Given the description of an element on the screen output the (x, y) to click on. 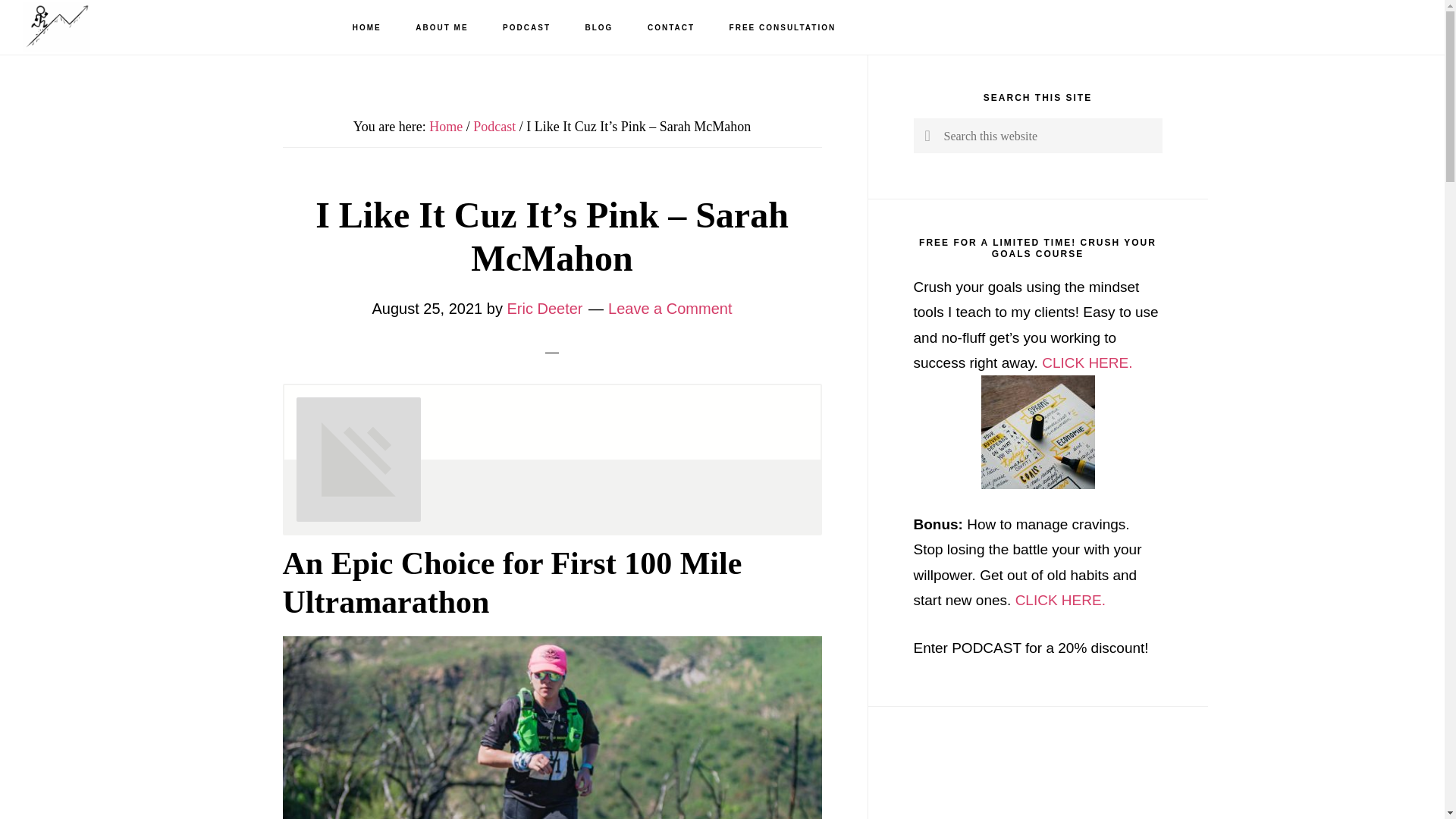
Eric Deeter (544, 308)
Podcast (494, 126)
ABOUT ME (441, 27)
FREE CONSULTATION (782, 27)
Leave a Comment (670, 308)
BLOG (599, 27)
CLICK HERE. (1059, 600)
HOME (366, 27)
Home (446, 126)
